Given the description of an element on the screen output the (x, y) to click on. 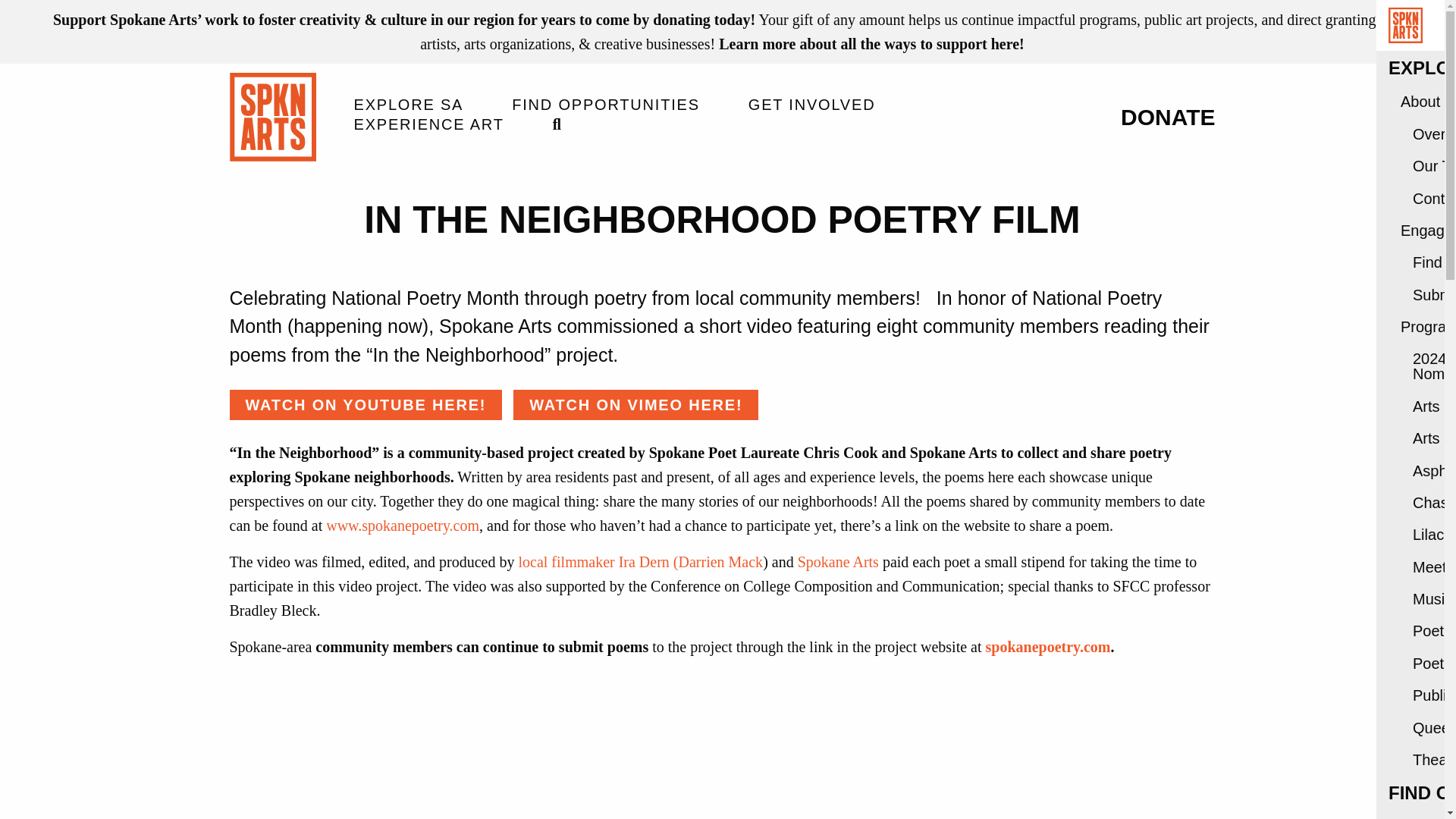
Learn more about all the ways to support here! (872, 44)
donating today (700, 19)
